Given the description of an element on the screen output the (x, y) to click on. 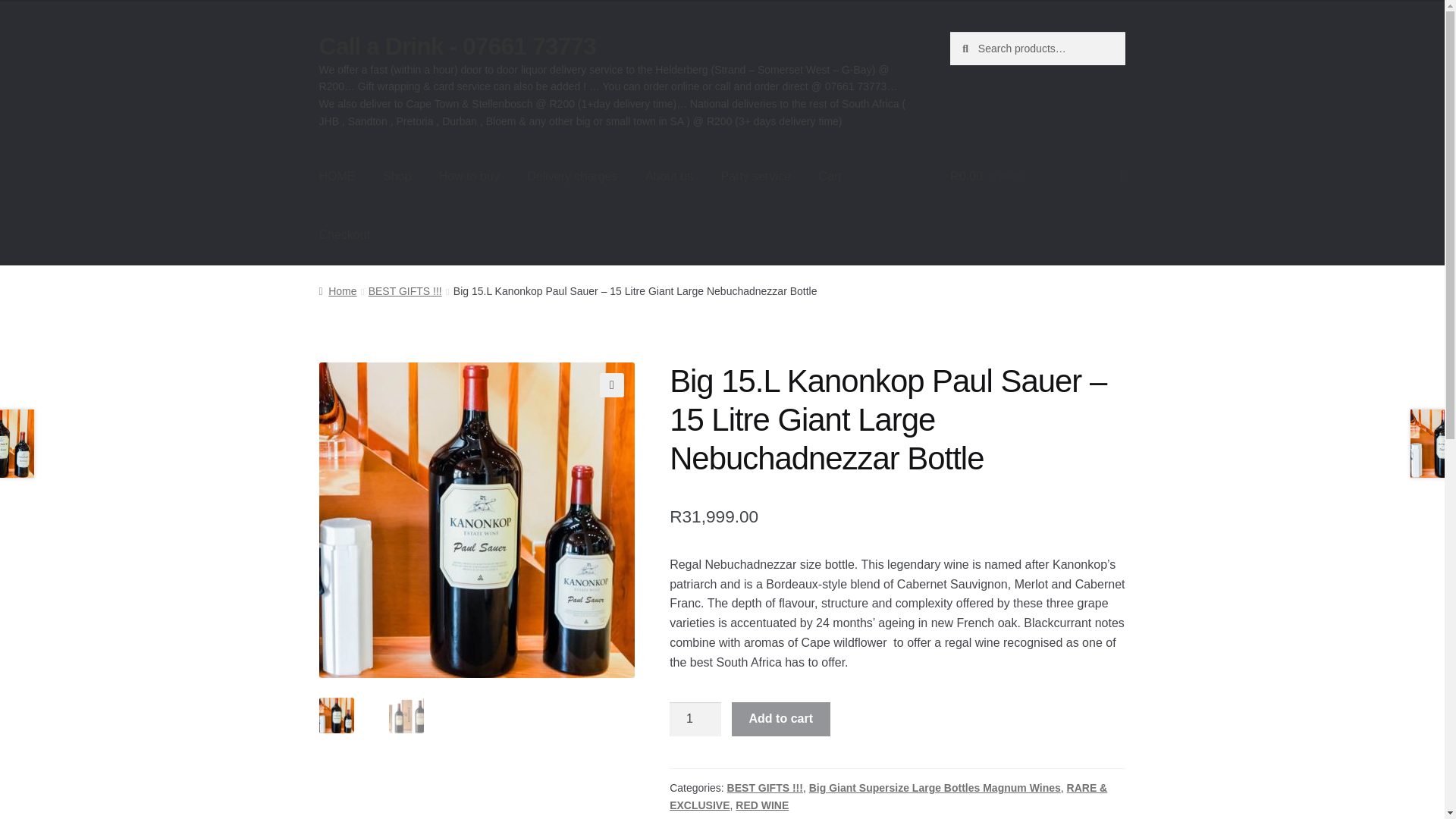
Kanonkop- hout box (792, 459)
Add to cart (780, 719)
About us (668, 176)
HOME (337, 176)
Shop (397, 176)
Checkout (344, 235)
Delivery charges (571, 176)
1 (694, 719)
RED WINE (762, 805)
Call a Drink - 07661 73773 (456, 45)
Party service (756, 176)
Home (337, 291)
Qty (694, 719)
BEST GIFTS !!! (405, 291)
